Given the description of an element on the screen output the (x, y) to click on. 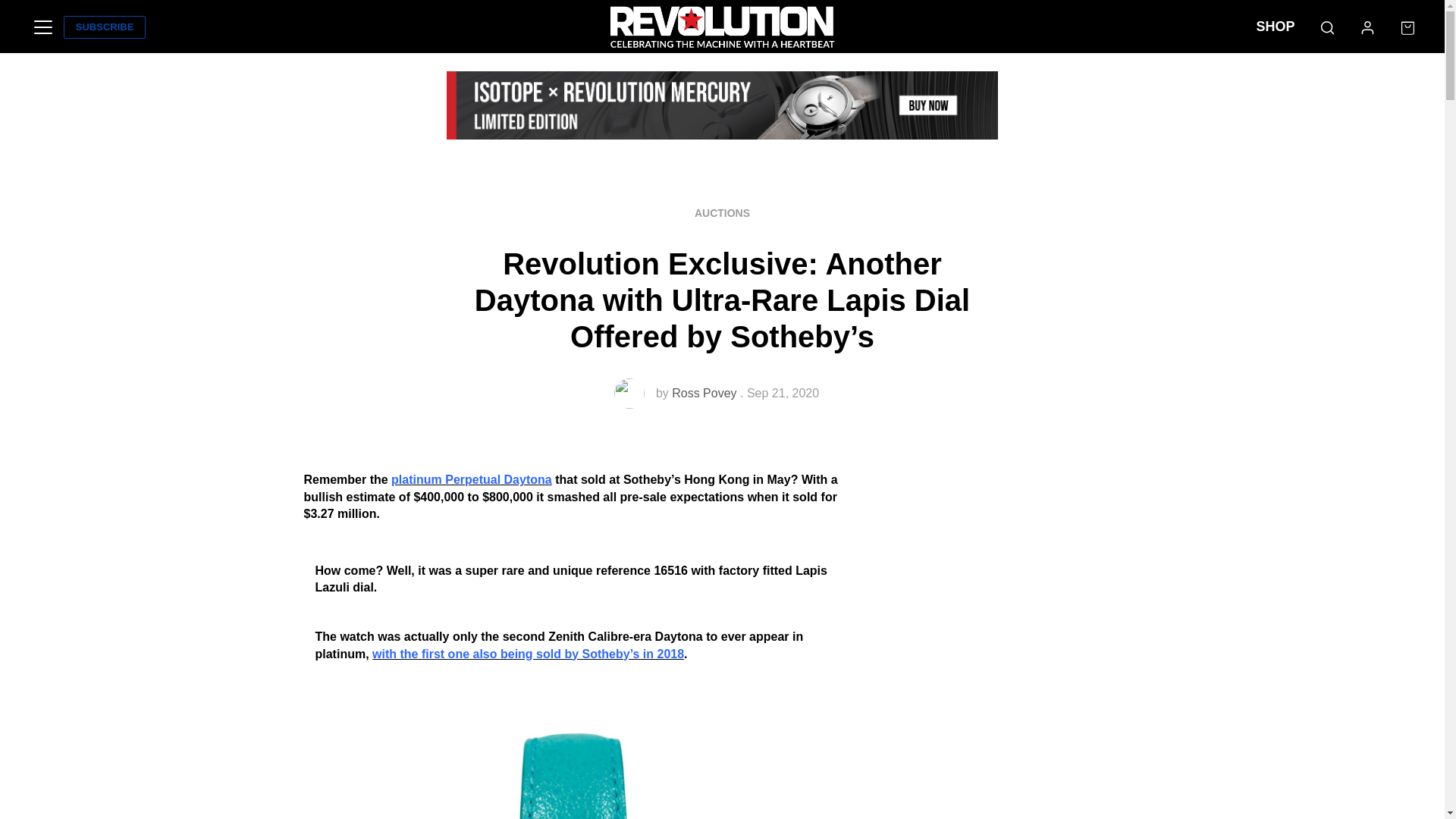
SUBSCRIBE (105, 26)
SHOP (1275, 26)
platinum Perpetual Daytona (471, 479)
